Given the description of an element on the screen output the (x, y) to click on. 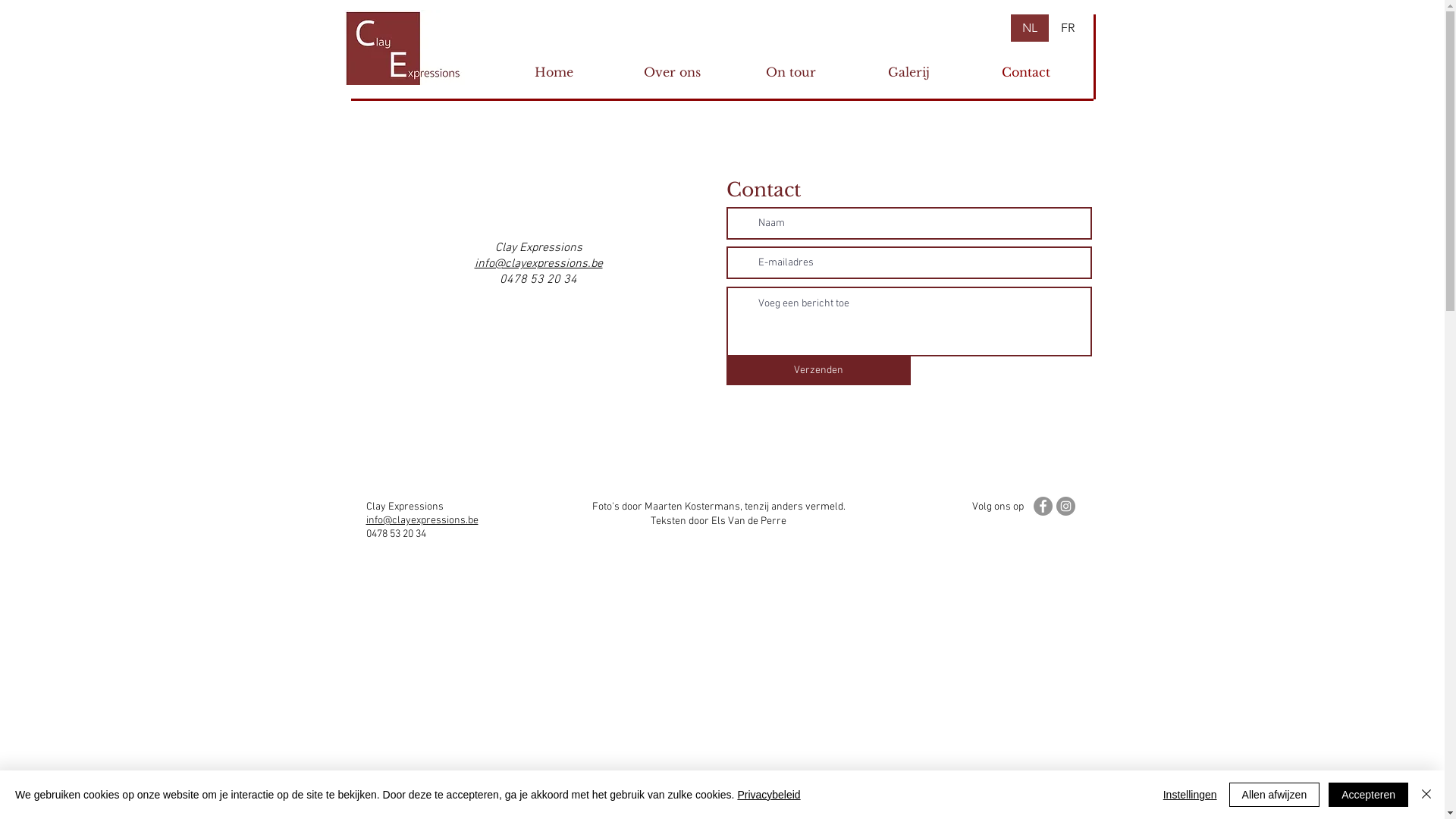
Accepteren Element type: text (1368, 794)
Home Element type: text (553, 72)
Verzenden Element type: text (818, 370)
info@clayexpressions.be Element type: text (538, 263)
Allen afwijzen Element type: text (1274, 794)
info@clayexpressions.be Element type: text (421, 519)
Galerij Element type: text (907, 72)
NL Element type: text (1029, 27)
Privacybeleid Element type: text (768, 794)
Contact Element type: text (1026, 72)
FR Element type: text (1067, 27)
On tour Element type: text (790, 72)
Over ons Element type: text (671, 72)
